Given the description of an element on the screen output the (x, y) to click on. 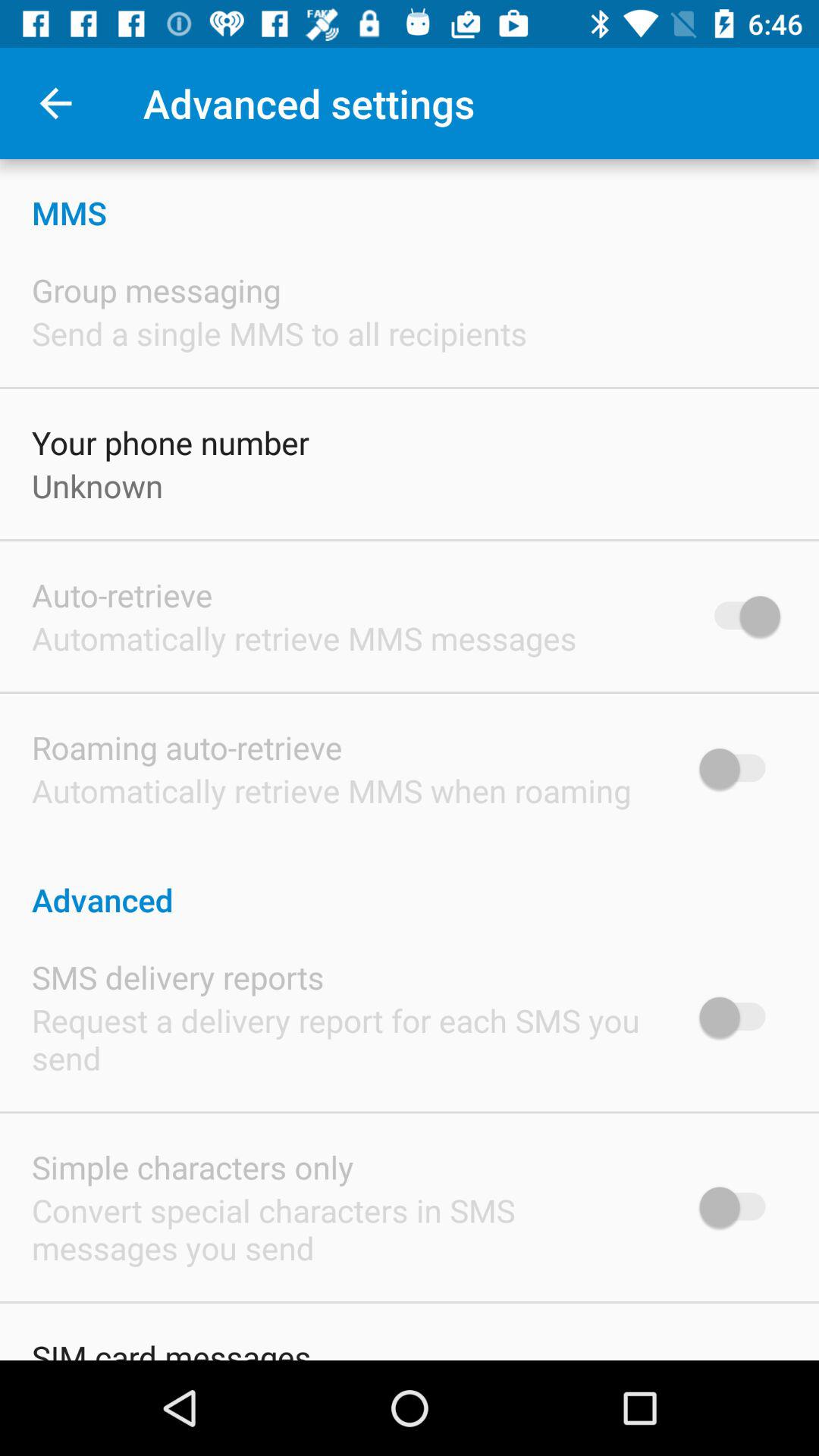
launch the icon above the convert special characters icon (192, 1166)
